Given the description of an element on the screen output the (x, y) to click on. 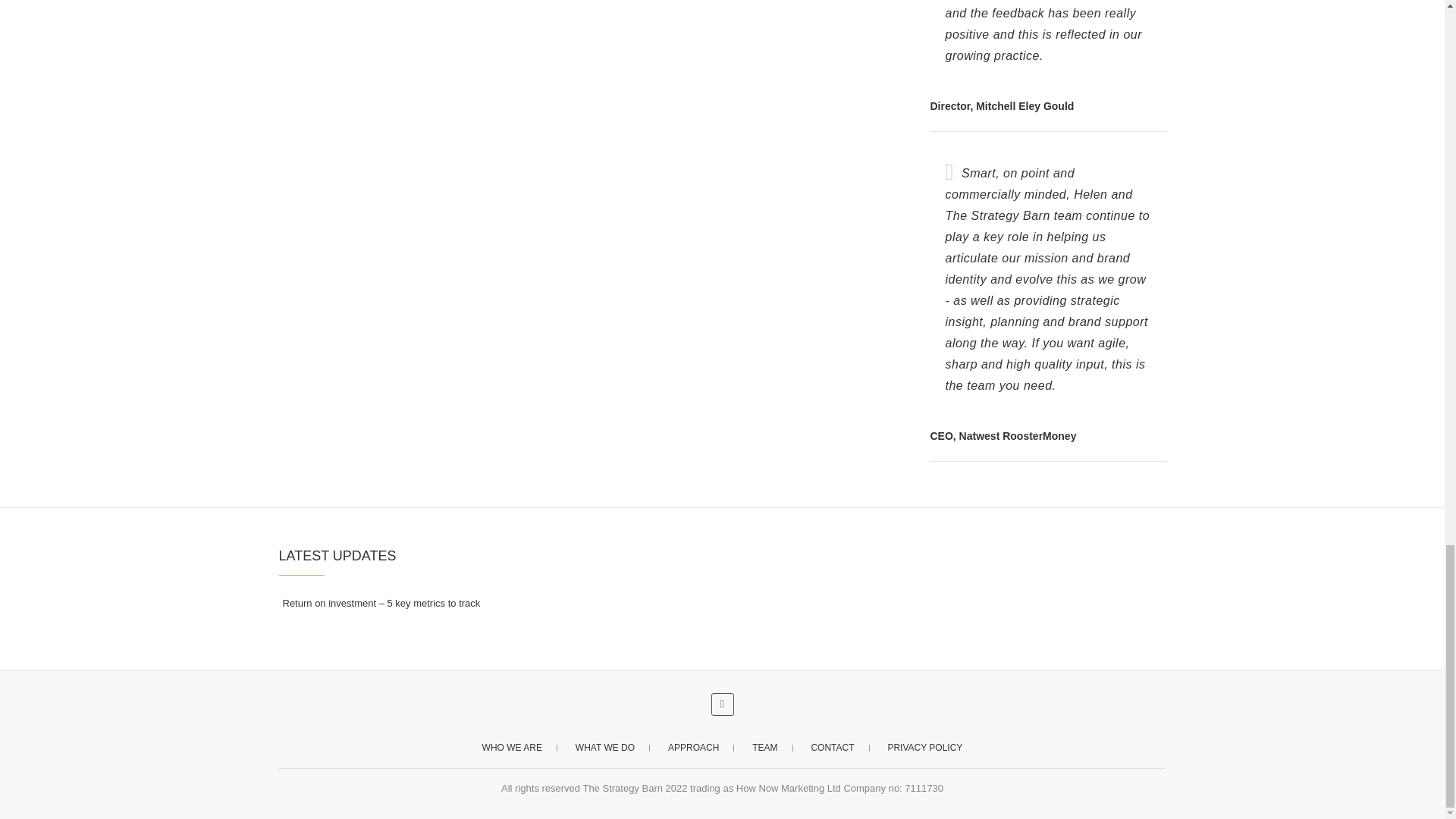
TEAM (764, 747)
WHO WE ARE (512, 747)
CONTACT (831, 747)
APPROACH (692, 747)
WHAT WE DO (604, 747)
PRIVACY POLICY (924, 747)
